Given the description of an element on the screen output the (x, y) to click on. 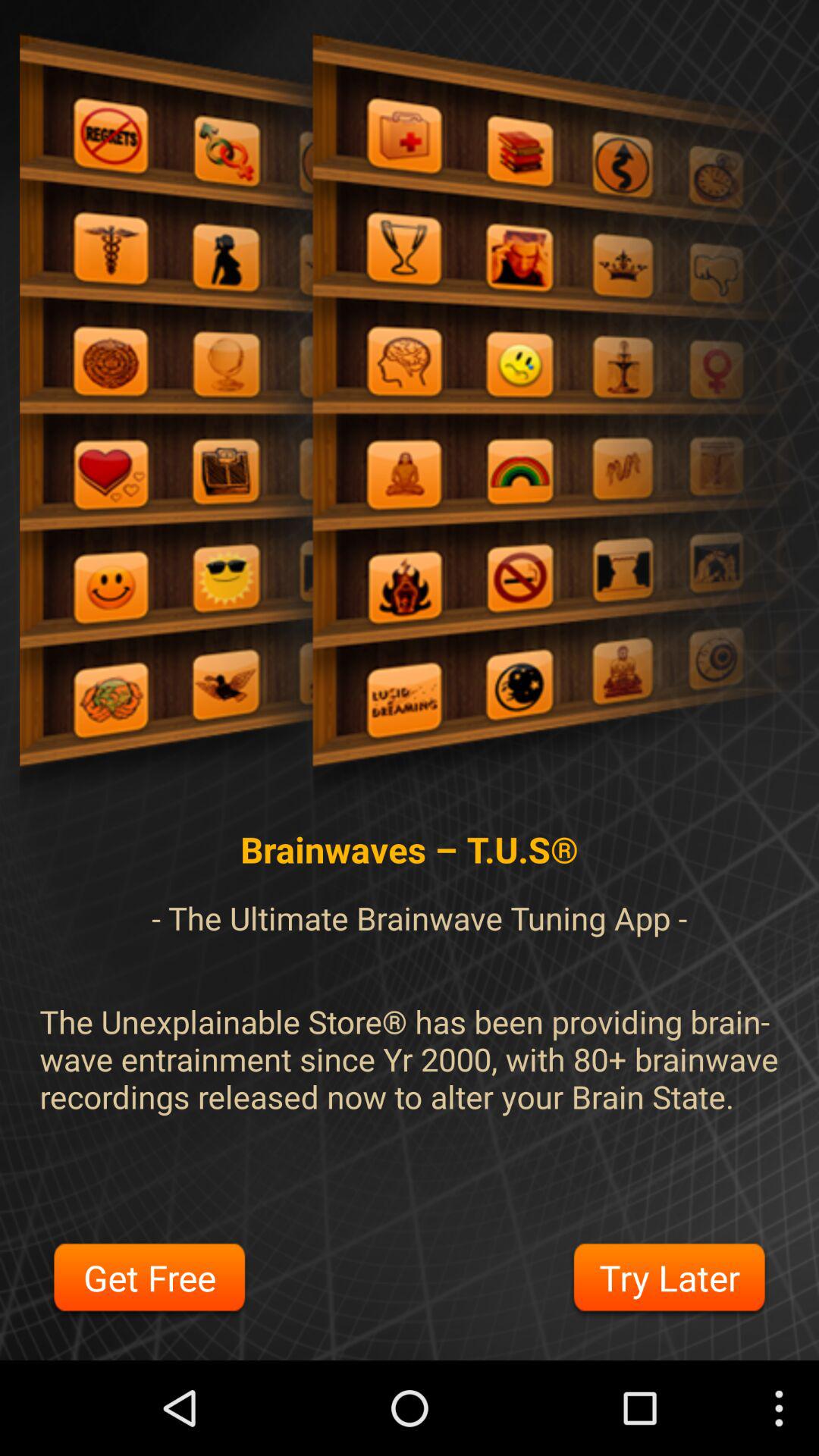
open item to the left of the try later icon (149, 1280)
